Given the description of an element on the screen output the (x, y) to click on. 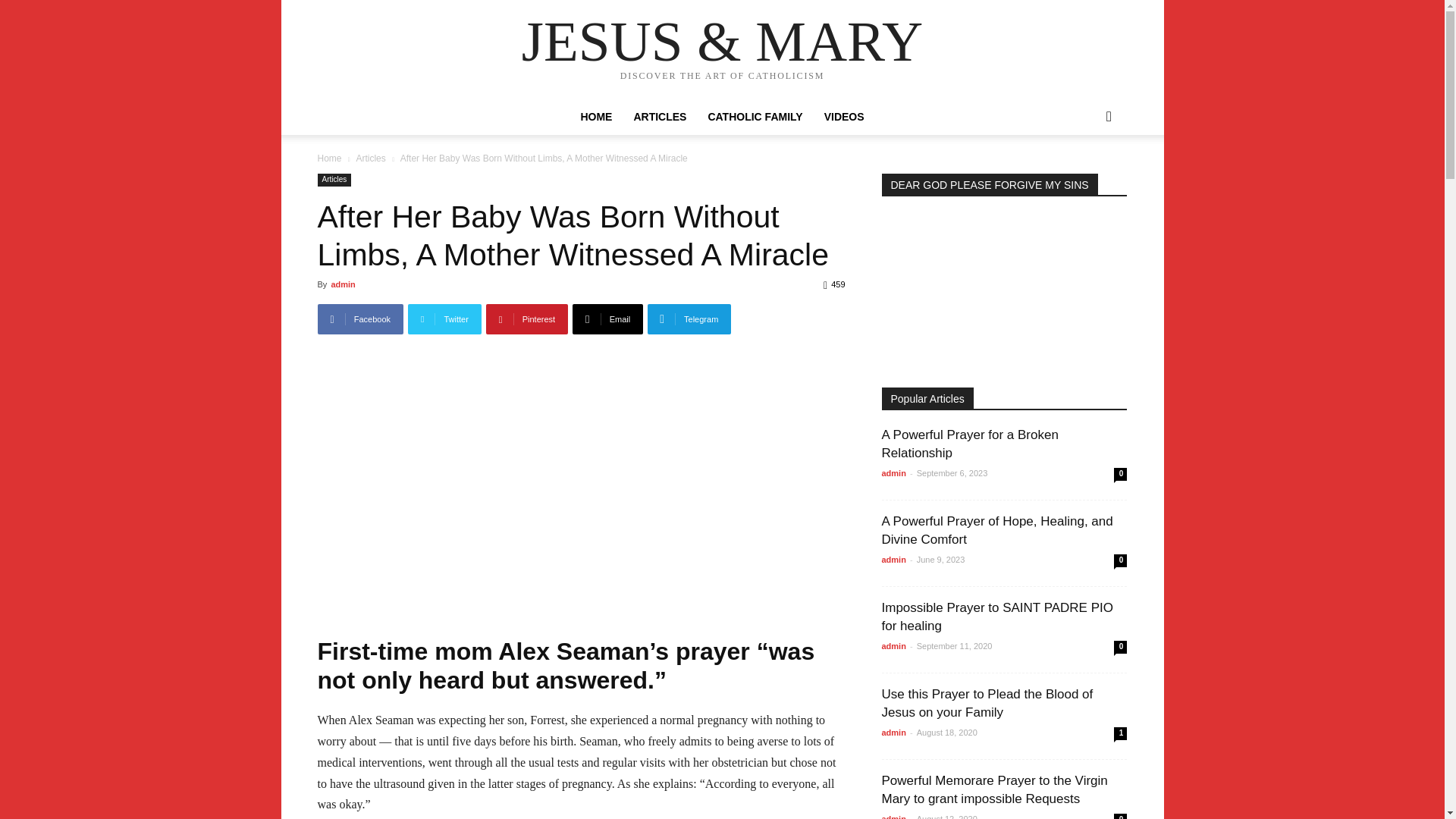
HOME (596, 116)
A Powerful Prayer for a Broken Relationship (969, 443)
Telegram (688, 318)
Articles (370, 158)
VIDEOS (844, 116)
CATHOLIC FAMILY (754, 116)
ARTICLES (660, 116)
admin (342, 284)
Advertisement (580, 488)
View all posts in Articles (370, 158)
Articles (333, 179)
Facebook (360, 318)
Pinterest (526, 318)
Twitter (444, 318)
Search (1085, 177)
